Given the description of an element on the screen output the (x, y) to click on. 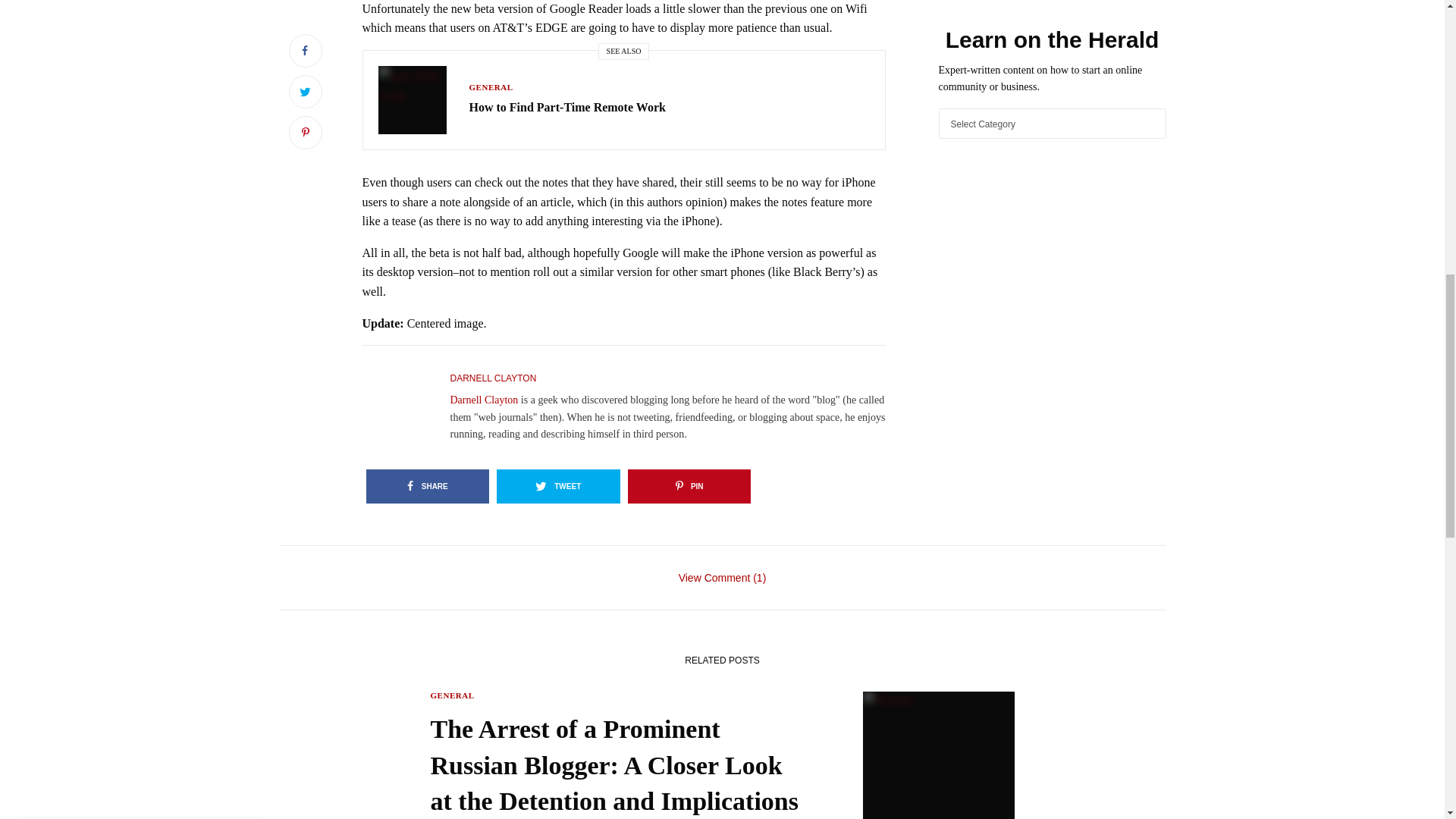
DARNELL CLAYTON (493, 378)
GENERAL (490, 86)
PIN (689, 486)
How to Find Part-Time Remote Work (566, 107)
How to Find Part-Time Remote Work (566, 107)
Darnell Clayton (483, 399)
SHARE (427, 486)
TWEET (558, 486)
